Given the description of an element on the screen output the (x, y) to click on. 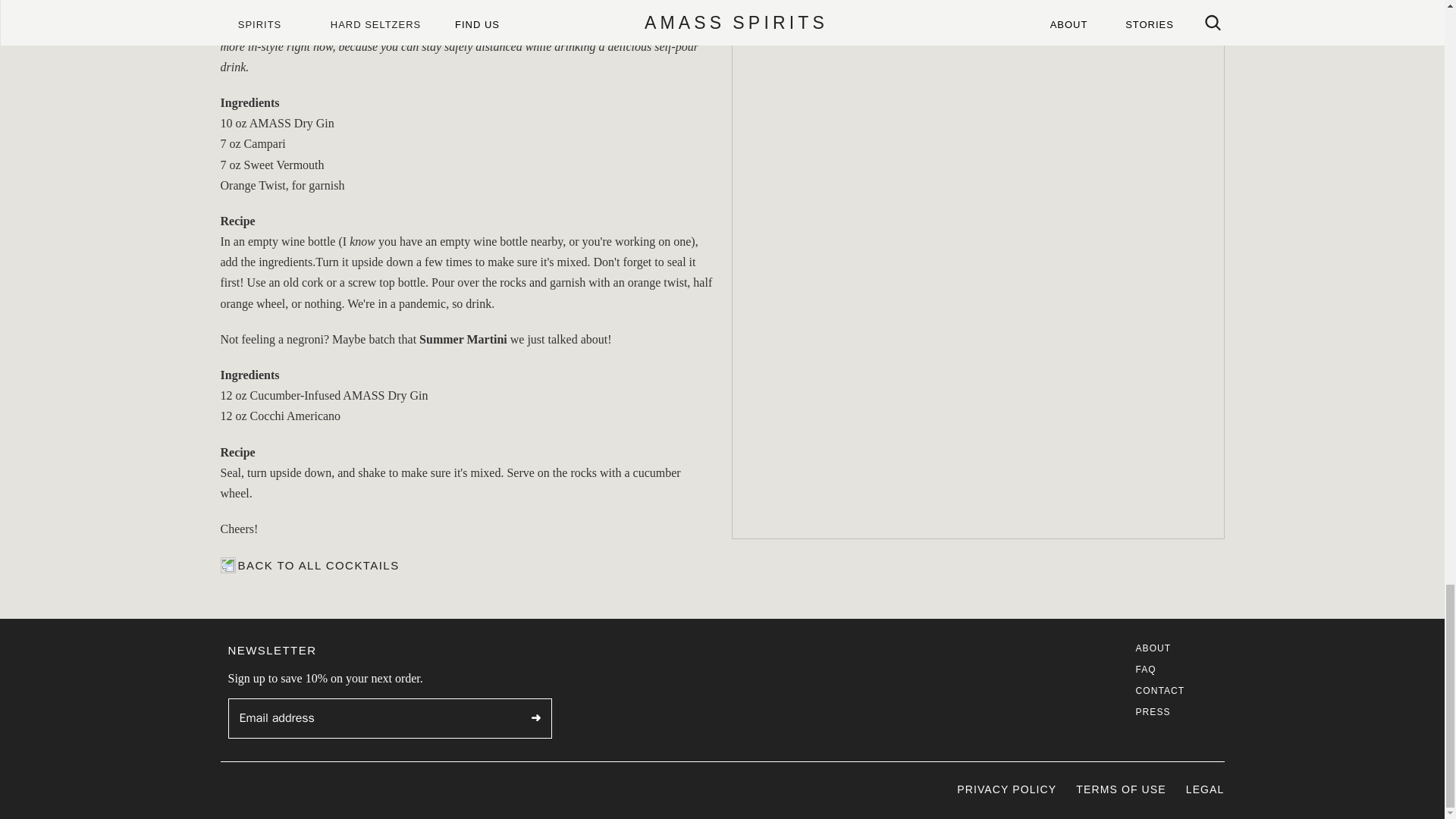
PRIVACY POLICY (1006, 788)
PRESS (1152, 711)
LEGAL (1205, 788)
FAQ (1145, 669)
TERMS OF USE (1120, 788)
CONTACT (1160, 690)
BACK TO ALL COCKTAILS (308, 565)
ABOUT (1153, 647)
